Given the description of an element on the screen output the (x, y) to click on. 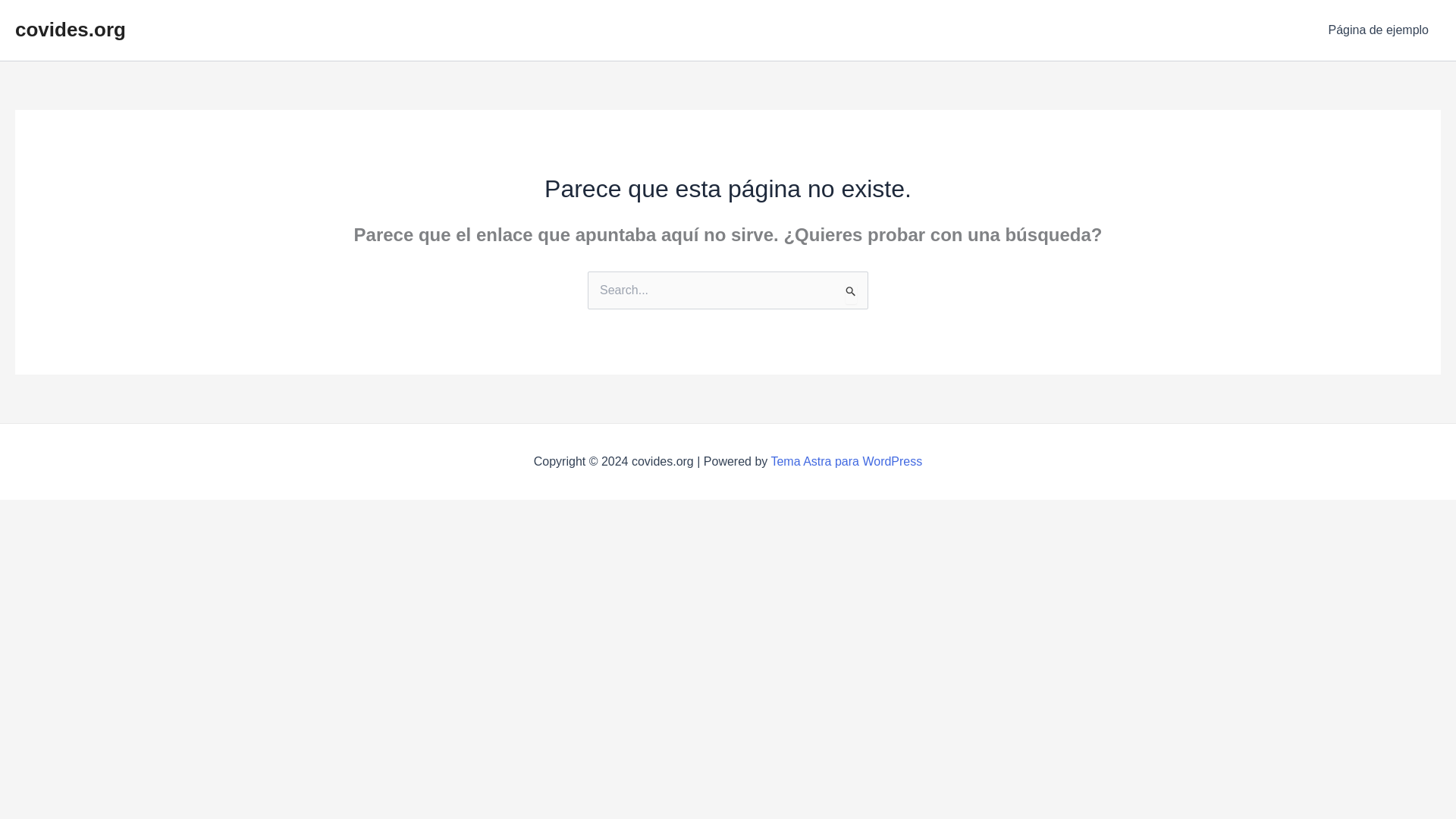
covides.org (69, 29)
Tema Astra para WordPress (845, 461)
